Given the description of an element on the screen output the (x, y) to click on. 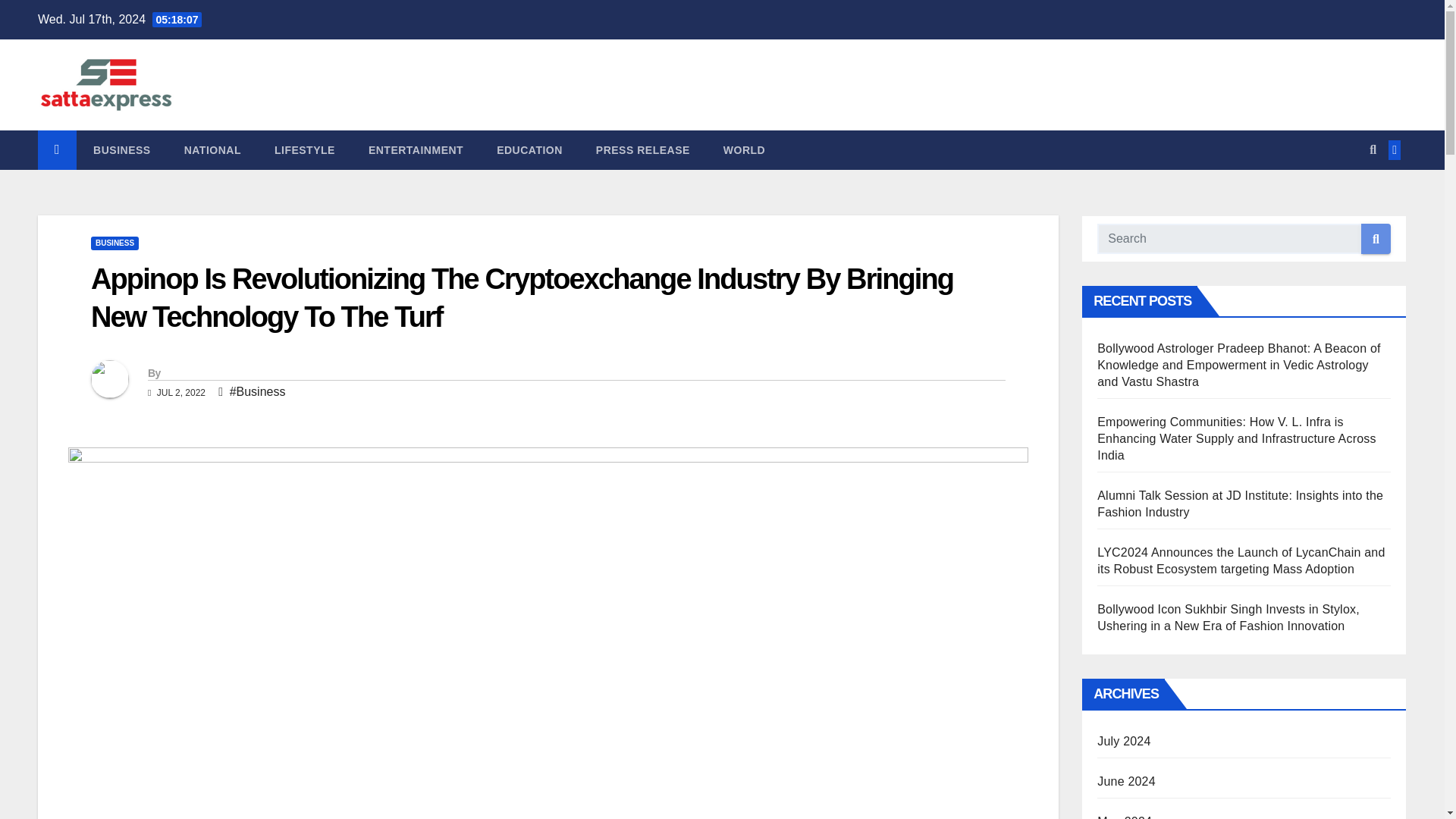
Business (122, 149)
BUSINESS (122, 149)
ENTERTAINMENT (416, 149)
Lifestyle (304, 149)
NATIONAL (212, 149)
Press Release (642, 149)
National (212, 149)
WORLD (743, 149)
Entertainment (416, 149)
LIFESTYLE (304, 149)
Education (529, 149)
EDUCATION (529, 149)
BUSINESS (114, 243)
PRESS RELEASE (642, 149)
